Given the description of an element on the screen output the (x, y) to click on. 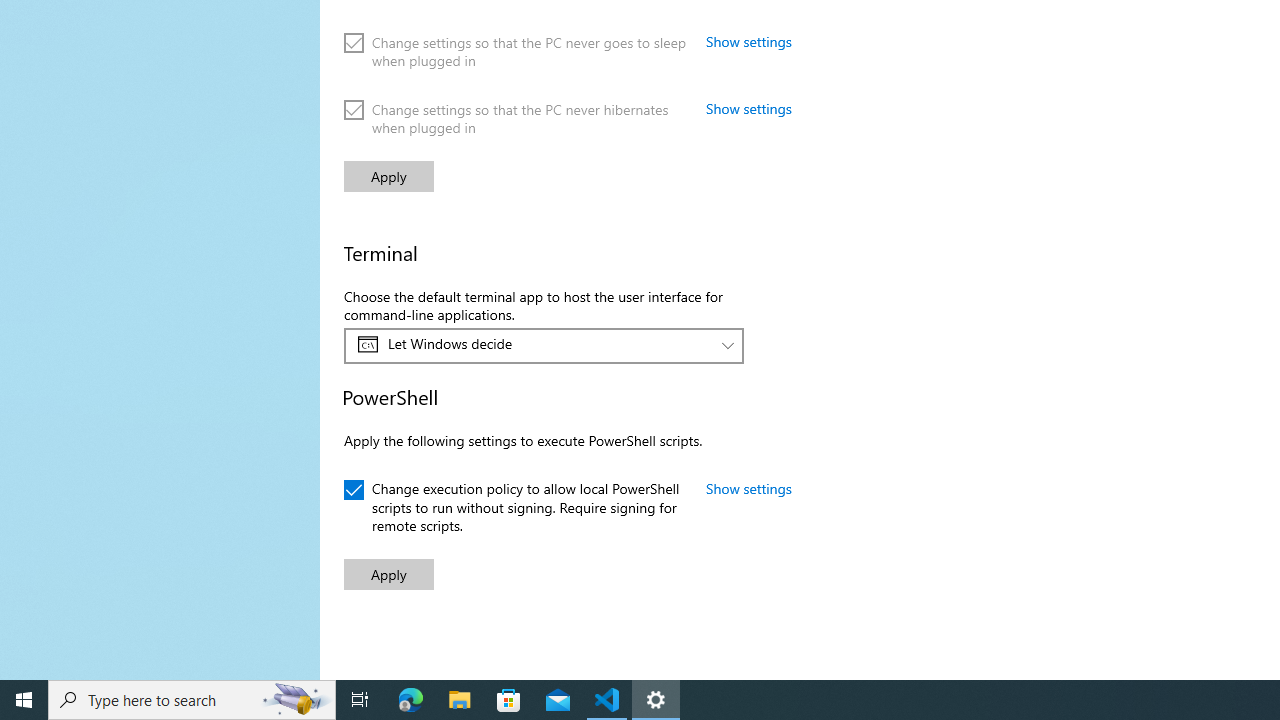
Let Windows decide (533, 344)
Apply (388, 573)
